Given the description of an element on the screen output the (x, y) to click on. 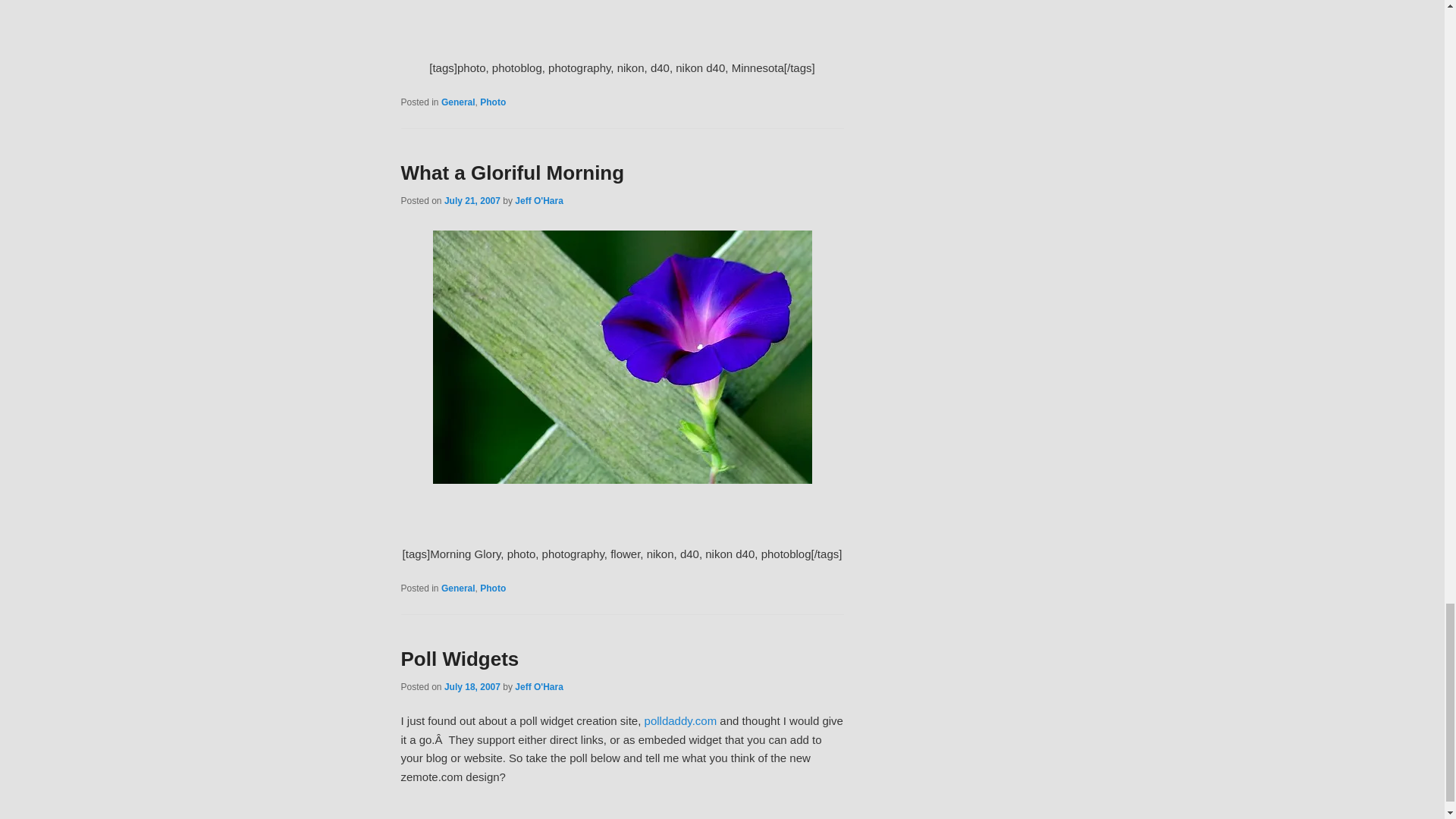
Photo (492, 102)
General (458, 102)
